Given the description of an element on the screen output the (x, y) to click on. 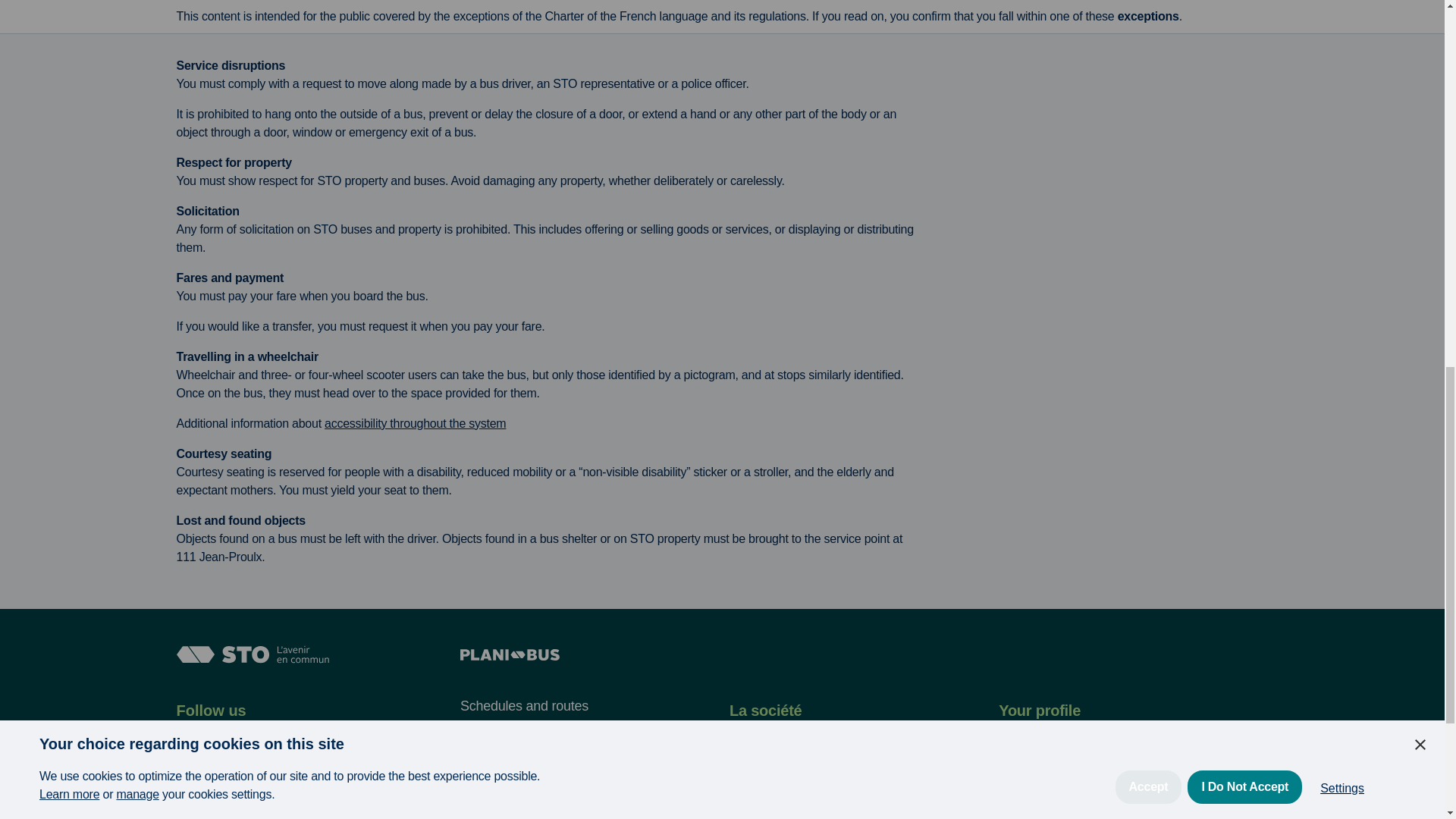
Learn more (69, 33)
I Do Not Accept (1244, 4)
manage (137, 24)
Accept (1148, 9)
Settings (1341, 2)
